Given the description of an element on the screen output the (x, y) to click on. 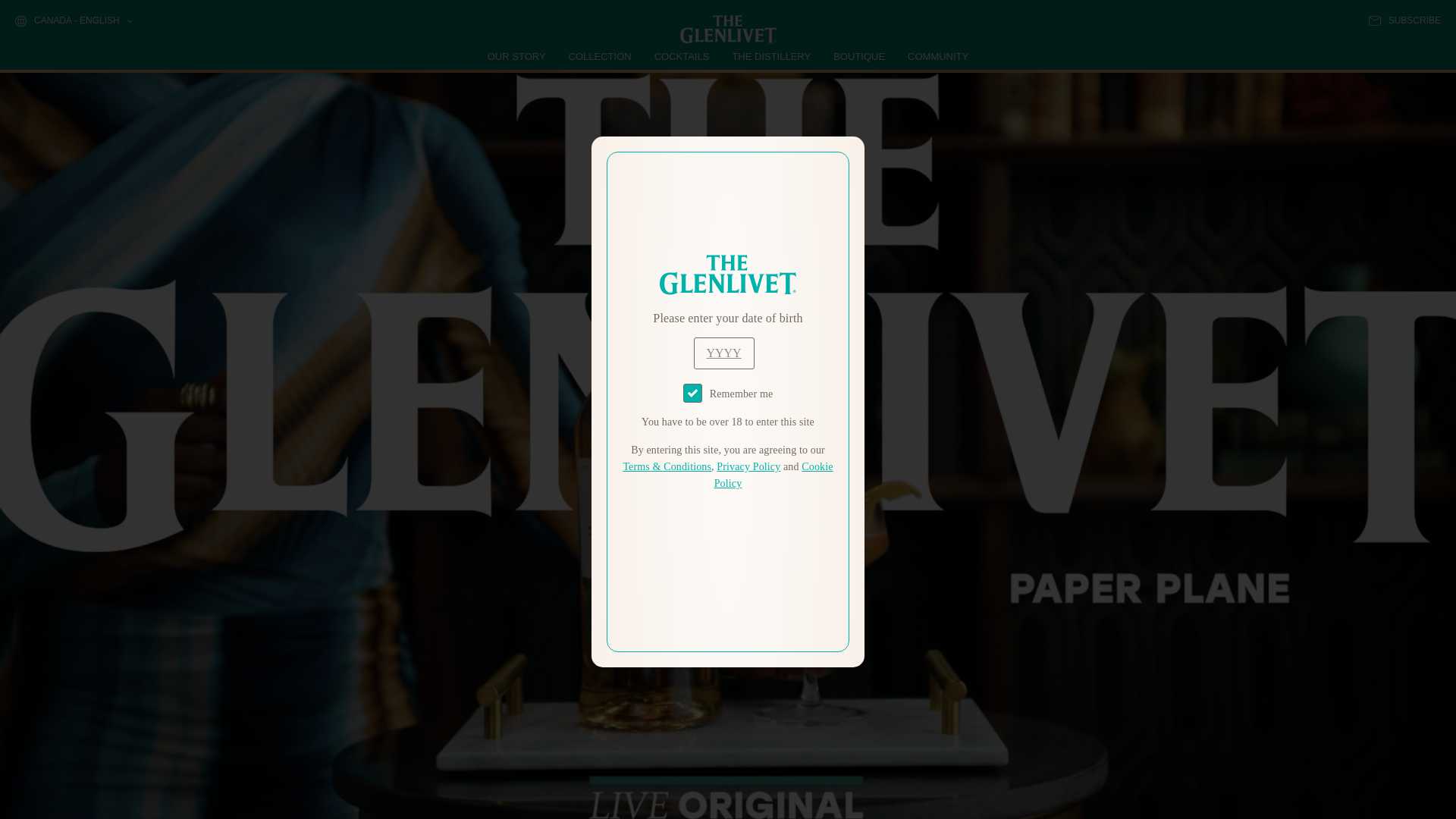
Privacy Policy (748, 466)
Cookie Policy (773, 474)
SUBSCRIBE (1404, 20)
year (723, 353)
BOUTIQUE (858, 56)
COLLECTION (600, 56)
COMMUNITY (937, 56)
COCKTAILS (681, 56)
OUR STORY (516, 56)
THE DISTILLERY (771, 56)
CANADA - ENGLISH (73, 21)
